Given the description of an element on the screen output the (x, y) to click on. 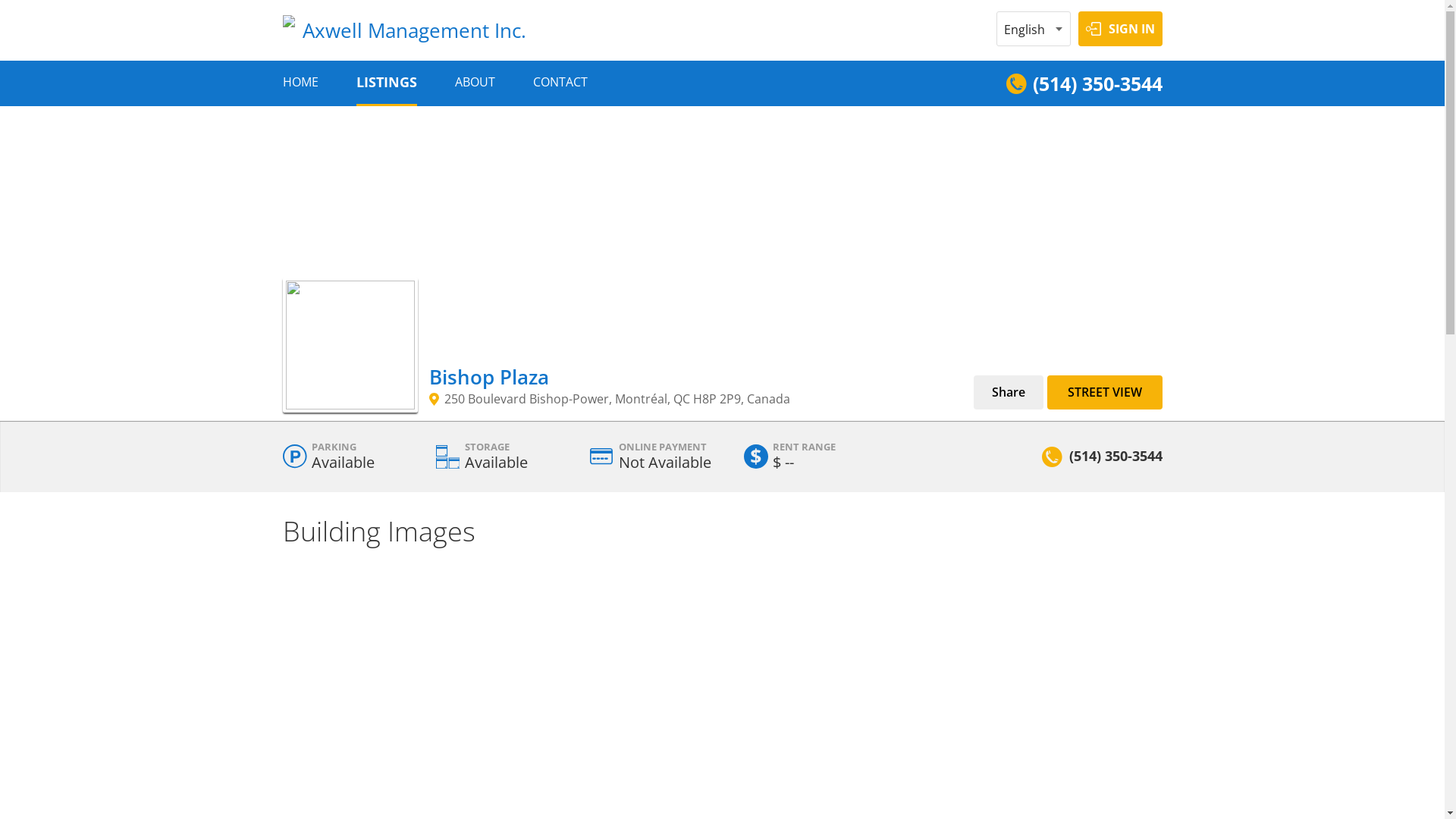
STREET VIEW Element type: text (1103, 392)
Share Element type: text (1008, 392)
ABOUT Element type: text (475, 81)
LISTINGS Element type: text (386, 81)
(514) 350-3544 Element type: text (1083, 83)
SIGN IN Element type: text (1120, 28)
HOME Element type: text (299, 81)
(514) 350-3544 Element type: text (1115, 454)
CONTACT Element type: text (559, 81)
